Given the description of an element on the screen output the (x, y) to click on. 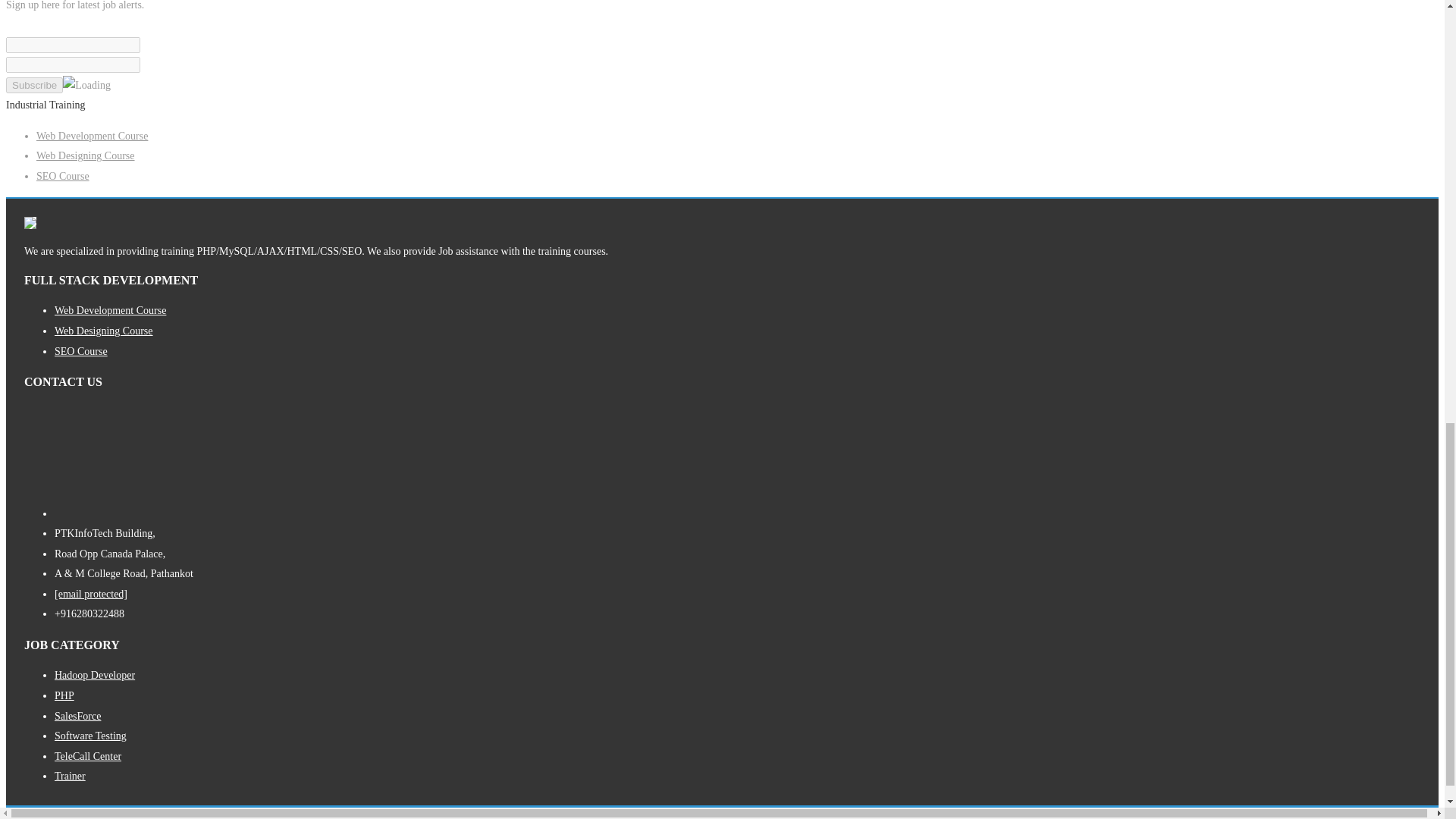
Subscribe (33, 84)
Subscribe (33, 84)
Hadoop Developer (95, 674)
Web Designing Course (103, 330)
SEO Course (62, 175)
Web Designing Course (85, 155)
SEO Course (81, 351)
Web Development Course (110, 310)
Web Development Course (92, 135)
